Given the description of an element on the screen output the (x, y) to click on. 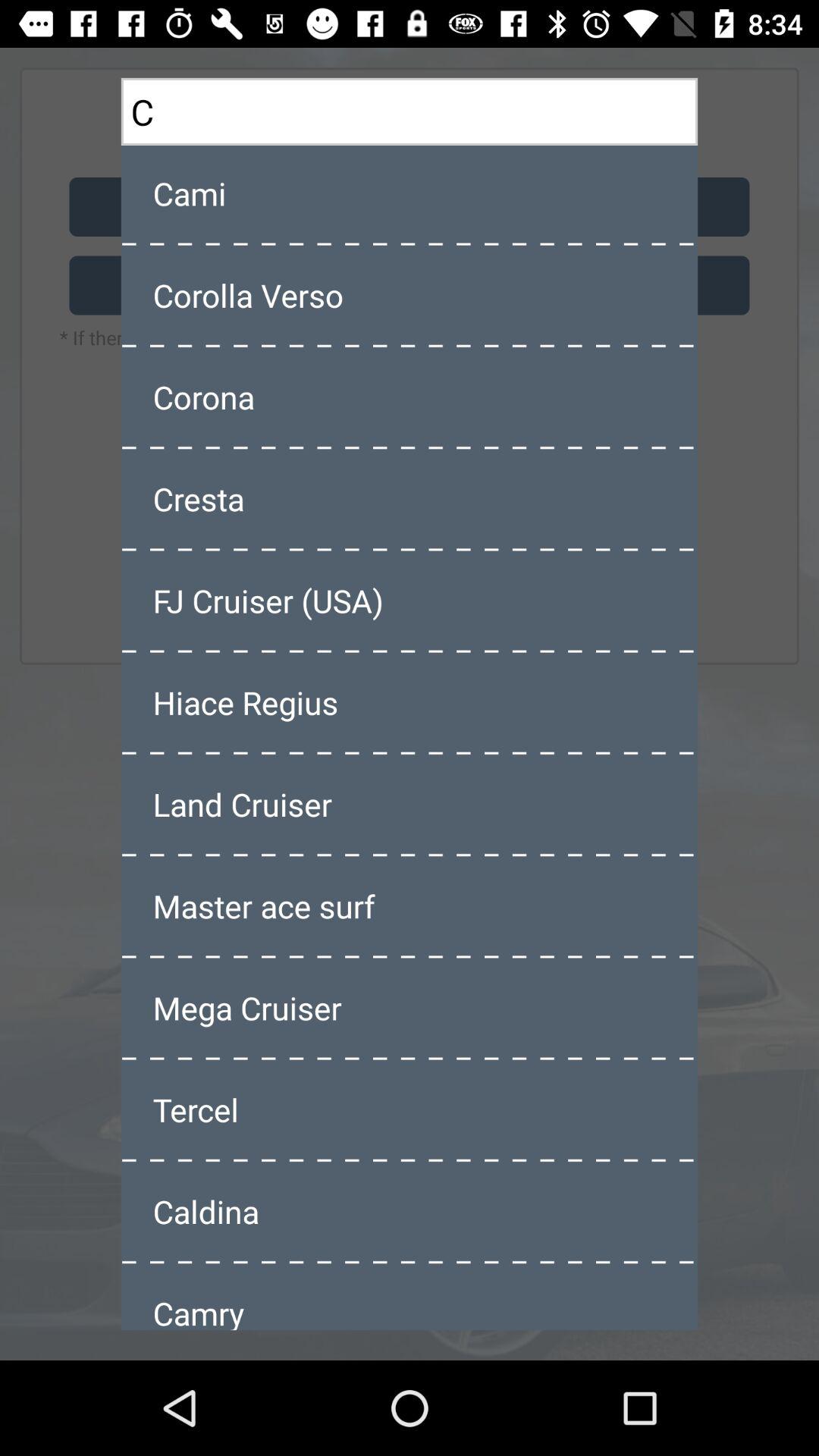
flip until cresta item (409, 498)
